Given the description of an element on the screen output the (x, y) to click on. 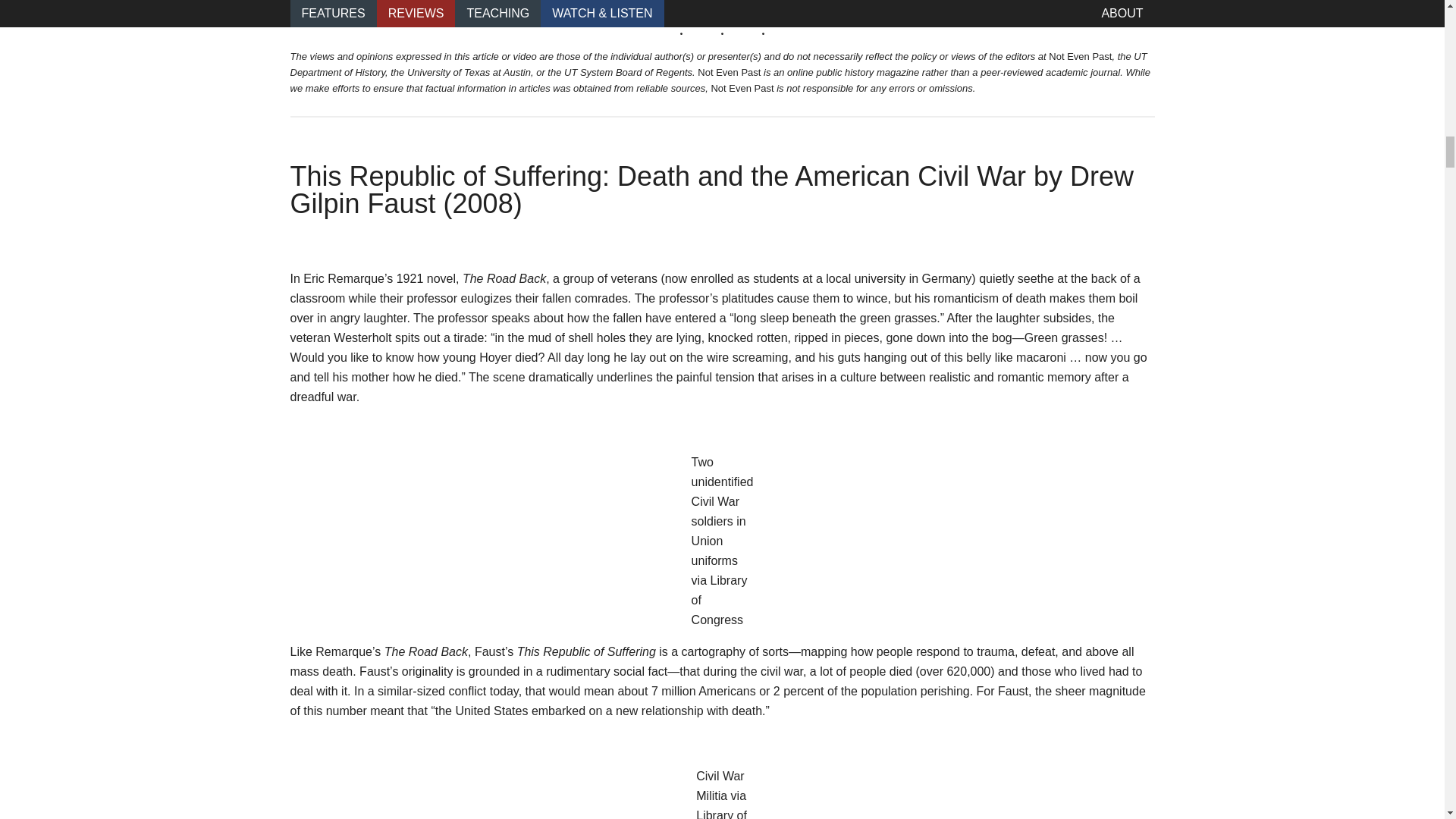
Library of Congress (719, 600)
Library of Congress (721, 814)
